Given the description of an element on the screen output the (x, y) to click on. 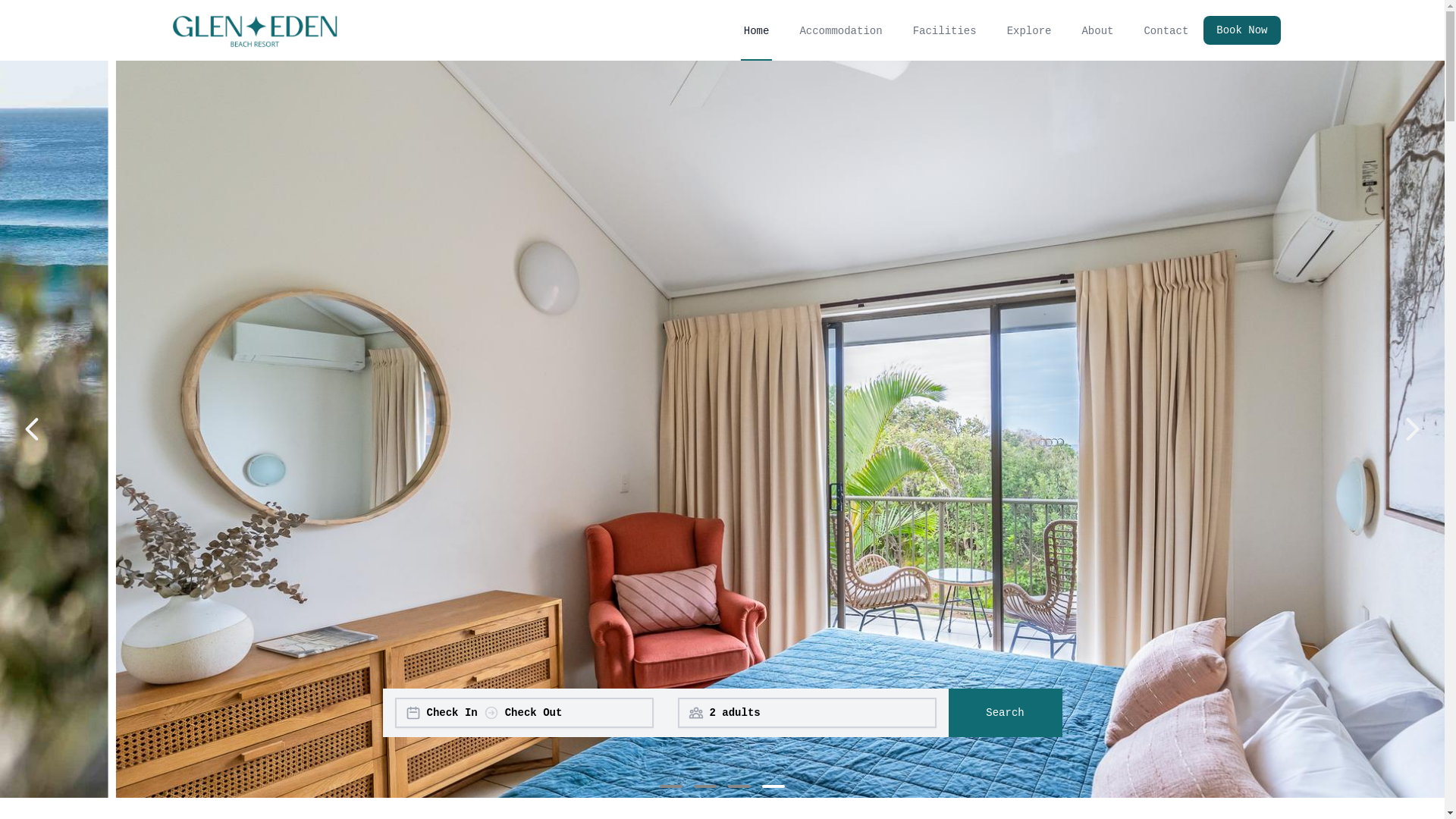
About Element type: text (1097, 30)
Explore Element type: text (1029, 30)
Book Now Element type: text (1235, 30)
Facilities Element type: text (944, 30)
Contact Element type: text (1165, 30)
Home Element type: text (756, 30)
Accommodation Element type: text (840, 30)
Book Now Element type: text (1241, 29)
Search Element type: text (1004, 712)
